Given the description of an element on the screen output the (x, y) to click on. 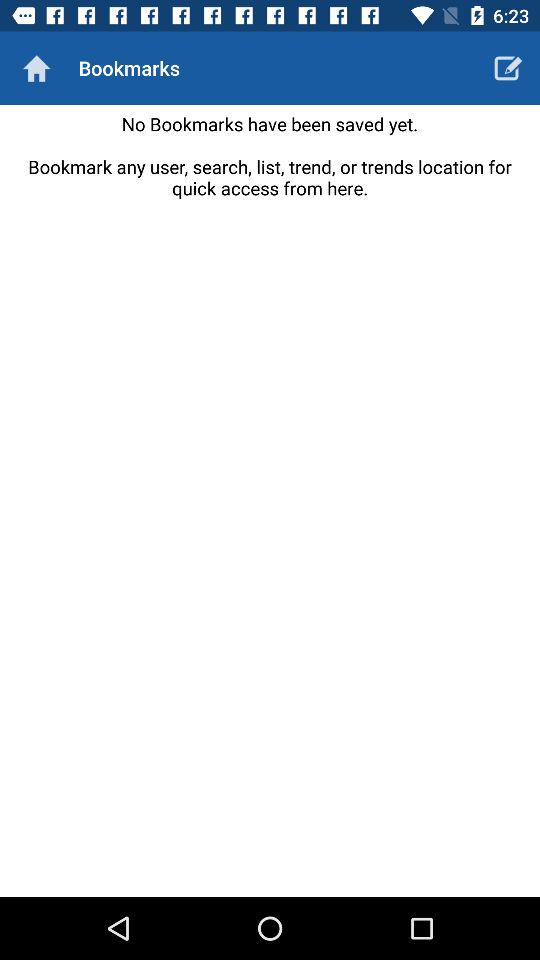
tap item at the top right corner (508, 67)
